Given the description of an element on the screen output the (x, y) to click on. 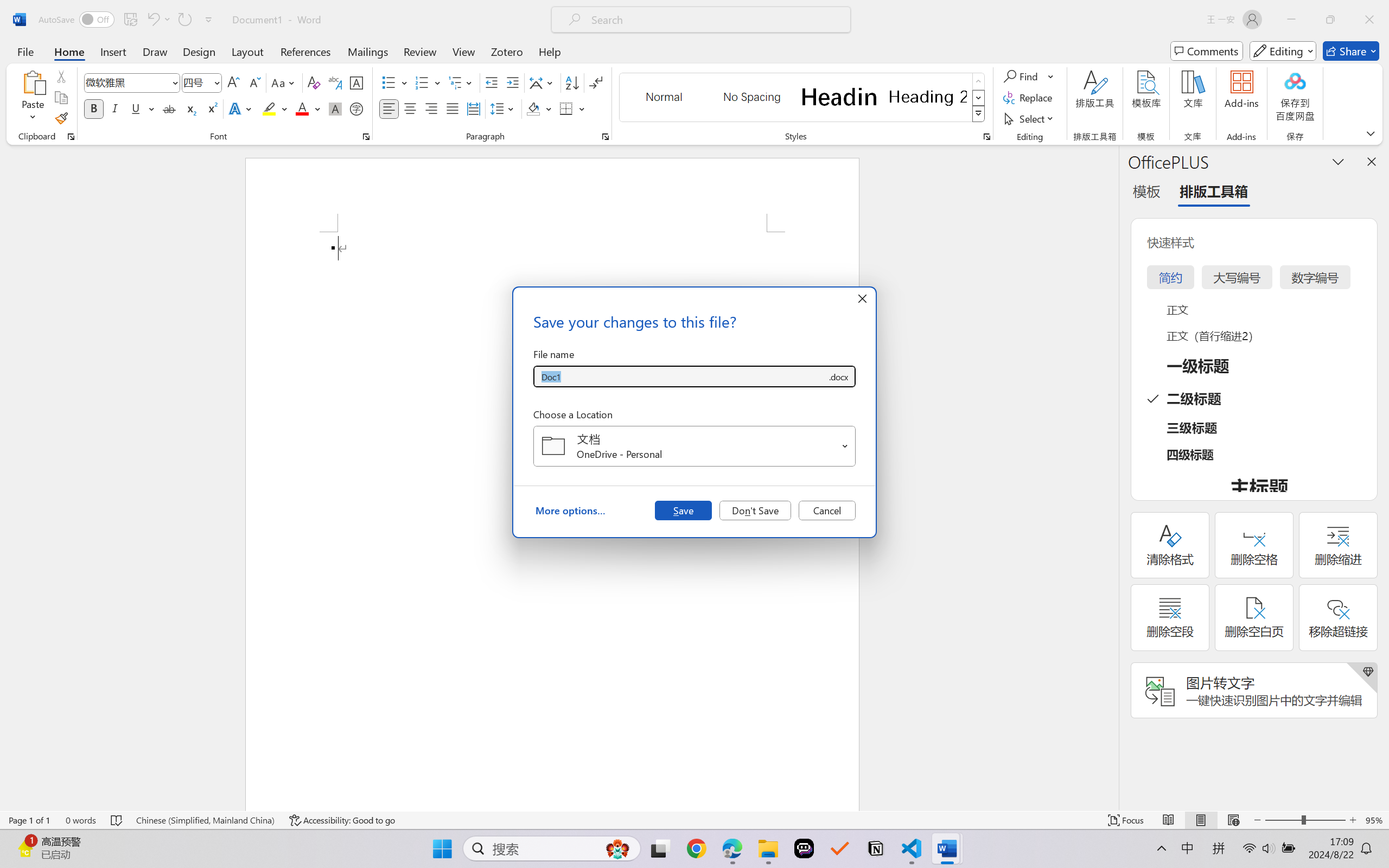
Don't Save (755, 509)
